Given the description of an element on the screen output the (x, y) to click on. 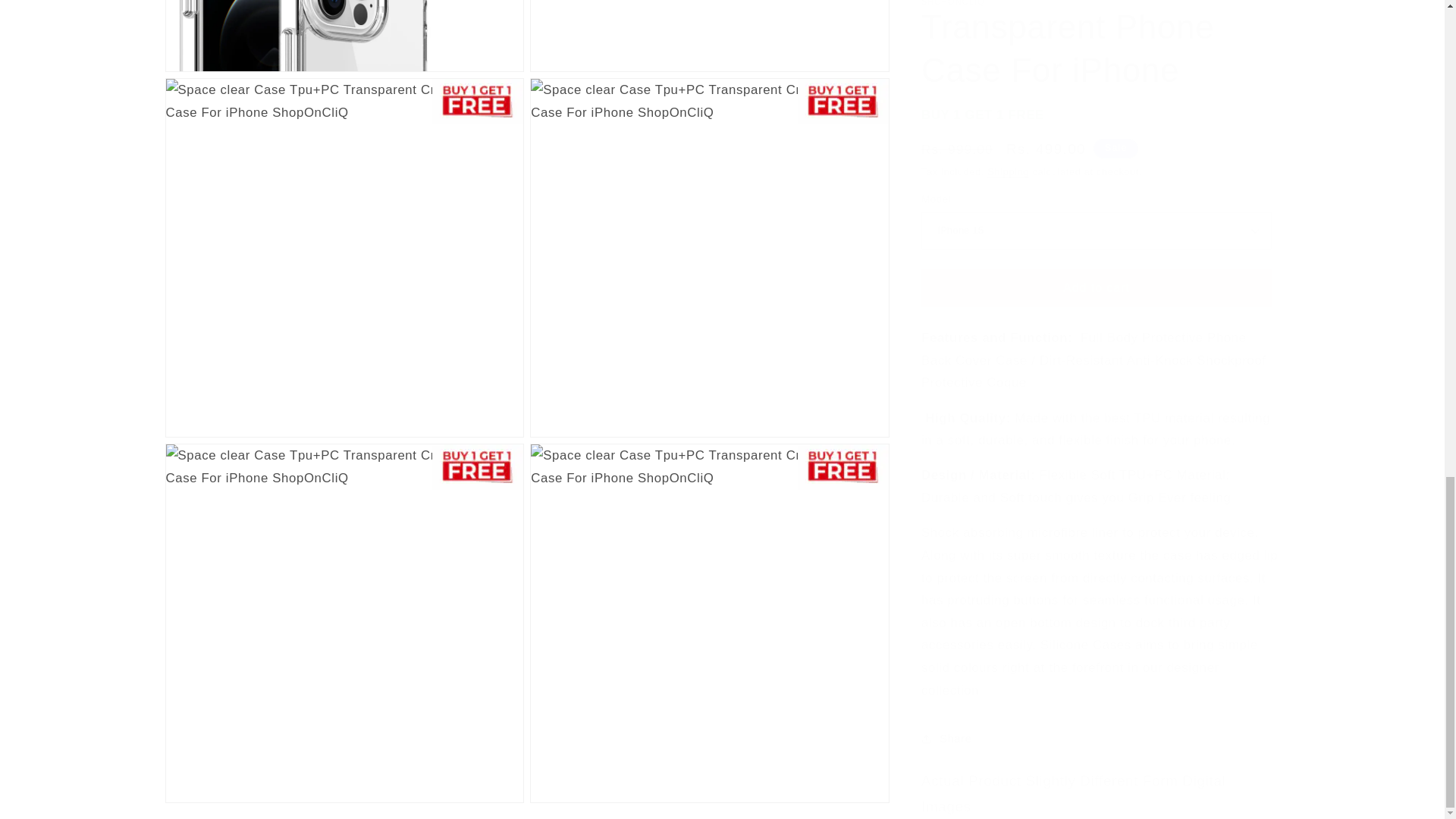
Open media 2 in modal (344, 28)
Open media 3 in modal (709, 28)
Open media 5 in modal (709, 241)
Open media 6 in modal (344, 607)
Open media 4 in modal (344, 241)
Open media 7 in modal (709, 607)
